Given the description of an element on the screen output the (x, y) to click on. 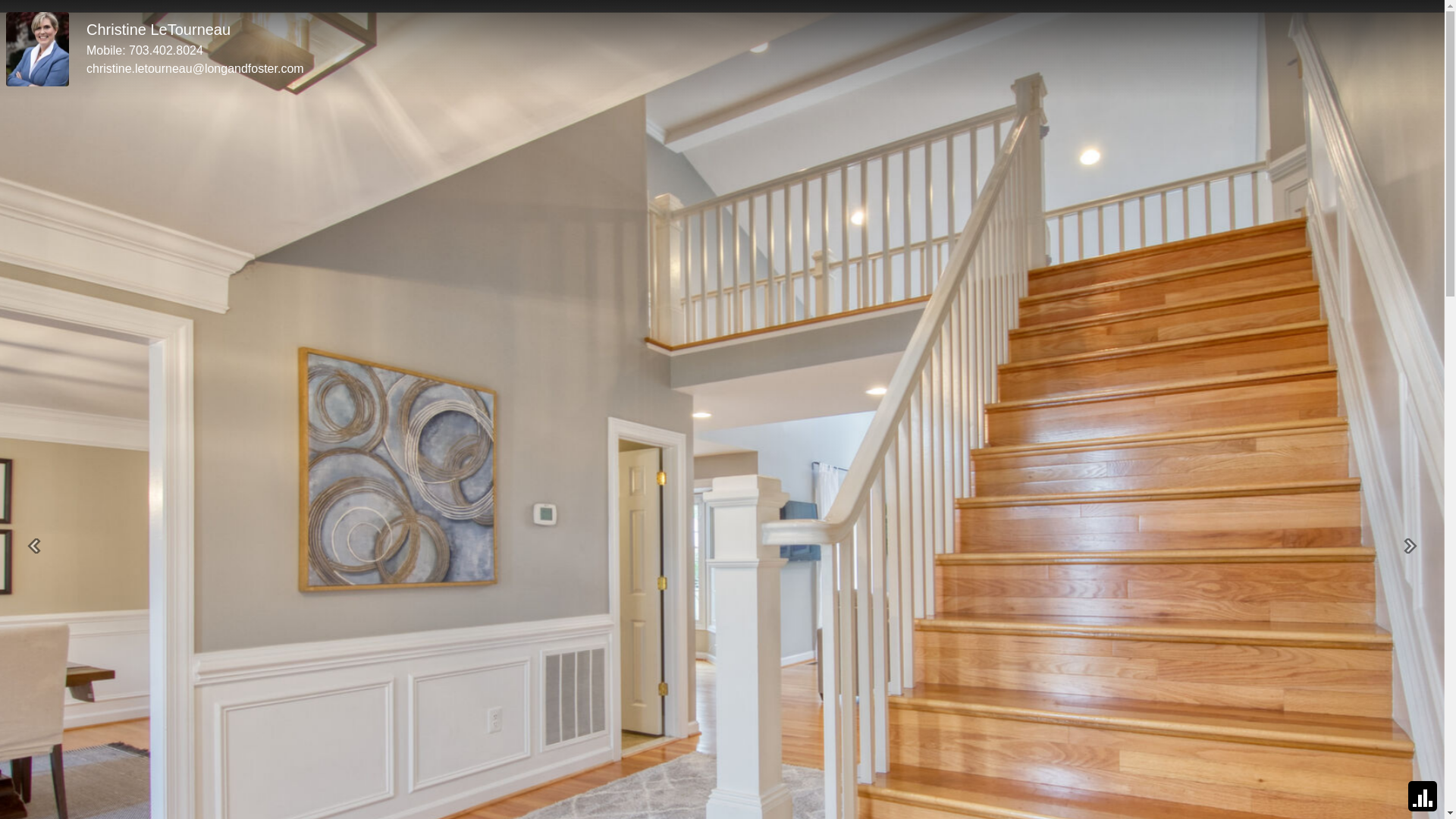
christine.letourneau@longandfoster.com Element type: text (195, 68)
703.402.8024 Element type: text (165, 49)
Previous Element type: text (33, 545)
Next Element type: text (1410, 545)
